Given the description of an element on the screen output the (x, y) to click on. 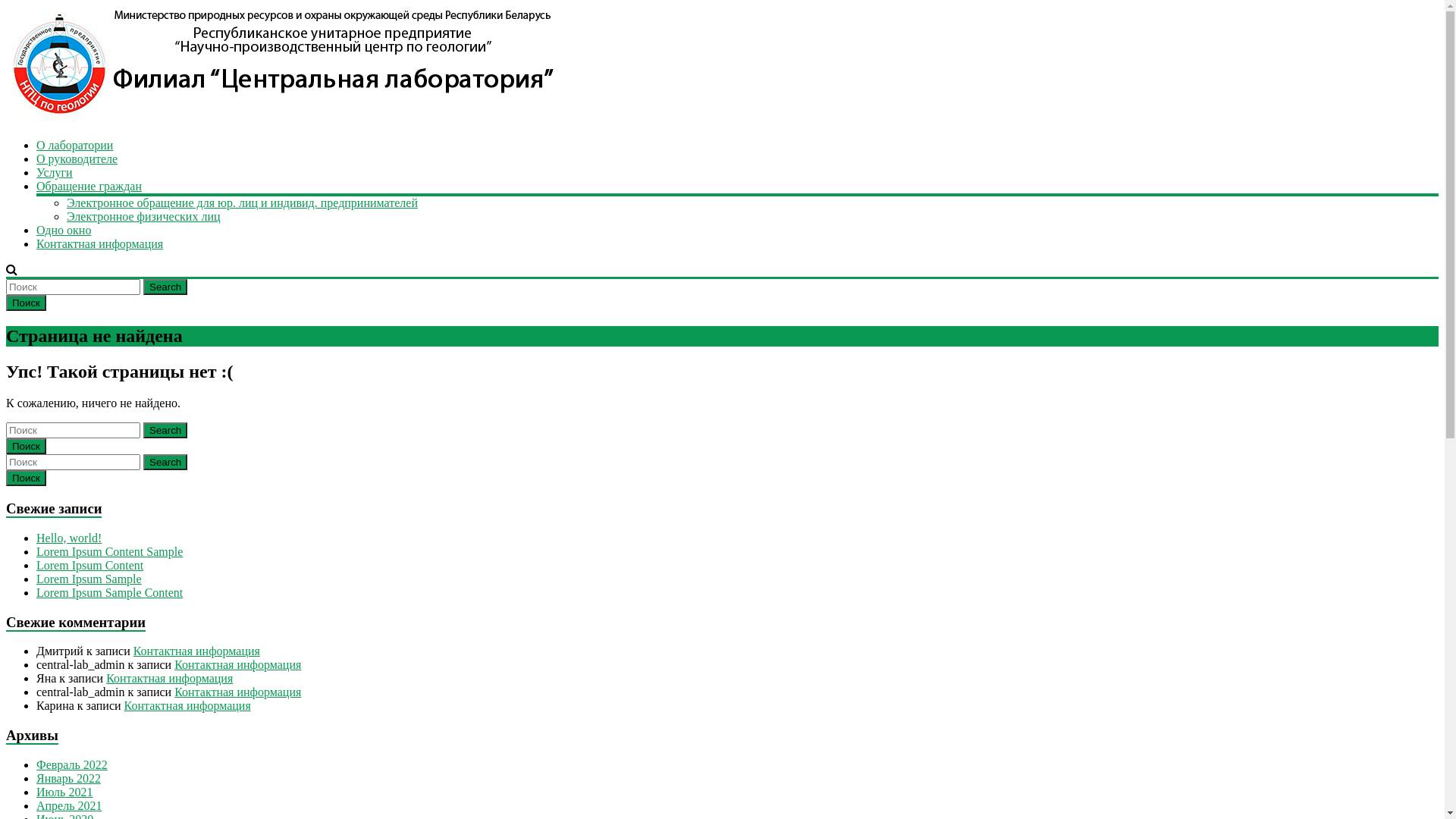
Search Element type: text (165, 430)
Hello, world! Element type: text (68, 537)
Search Element type: text (165, 286)
Lorem Ipsum Content Element type: text (89, 564)
Lorem Ipsum Sample Element type: text (88, 578)
Lorem Ipsum Content Sample Element type: text (109, 551)
Search Element type: text (165, 462)
Lorem Ipsum Sample Content Element type: text (109, 592)
